Given the description of an element on the screen output the (x, y) to click on. 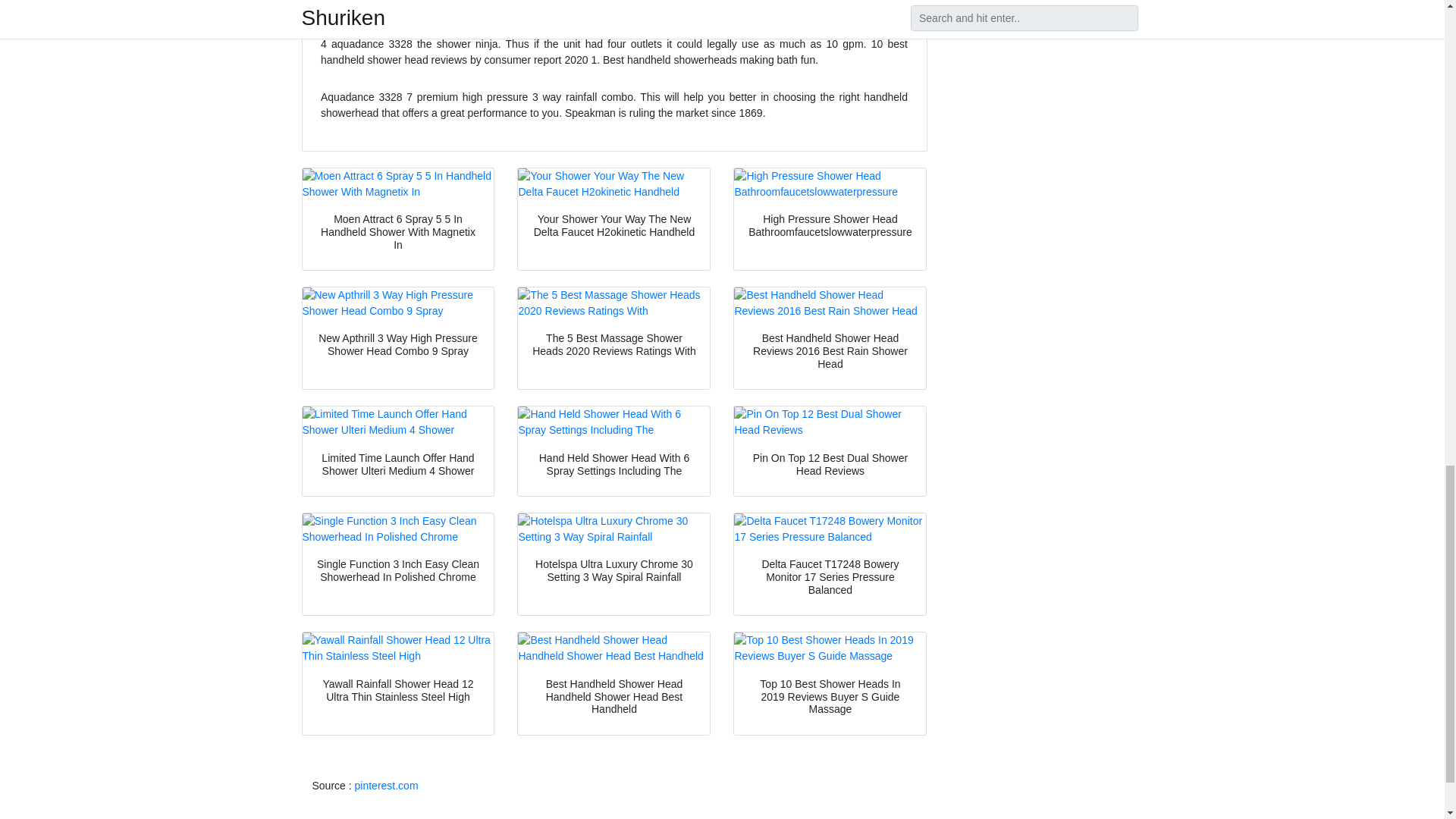
pinterest.com (387, 785)
